Given the description of an element on the screen output the (x, y) to click on. 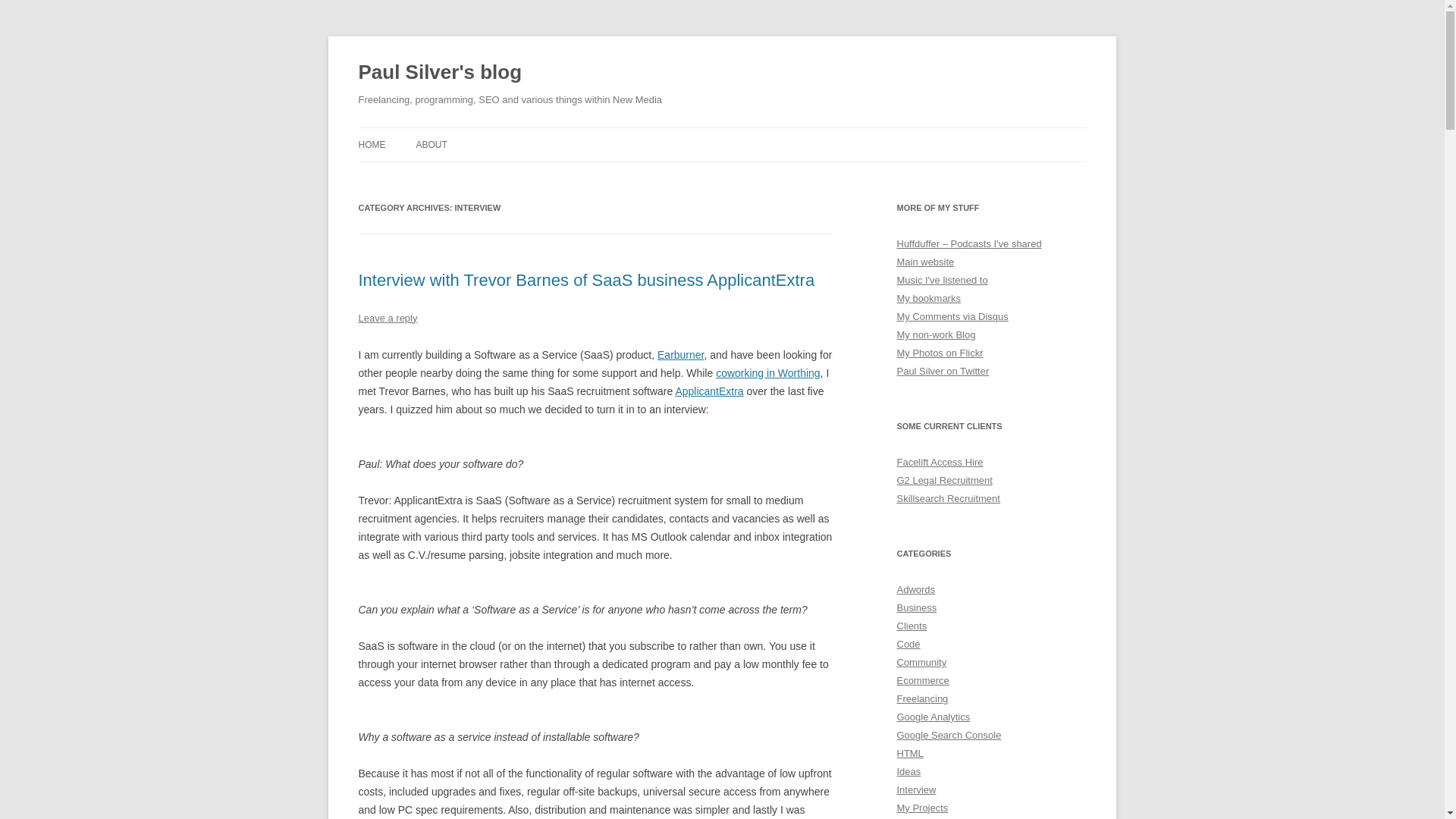
Leave a reply (387, 317)
Main website (924, 261)
Facelift Access Hire (939, 461)
G2 Legal Recruitment (943, 480)
ApplicantExtra (708, 390)
coworking in Worthing (767, 372)
ABOUT (430, 144)
Business (916, 607)
Skillsearch Recruitment (947, 498)
